Given the description of an element on the screen output the (x, y) to click on. 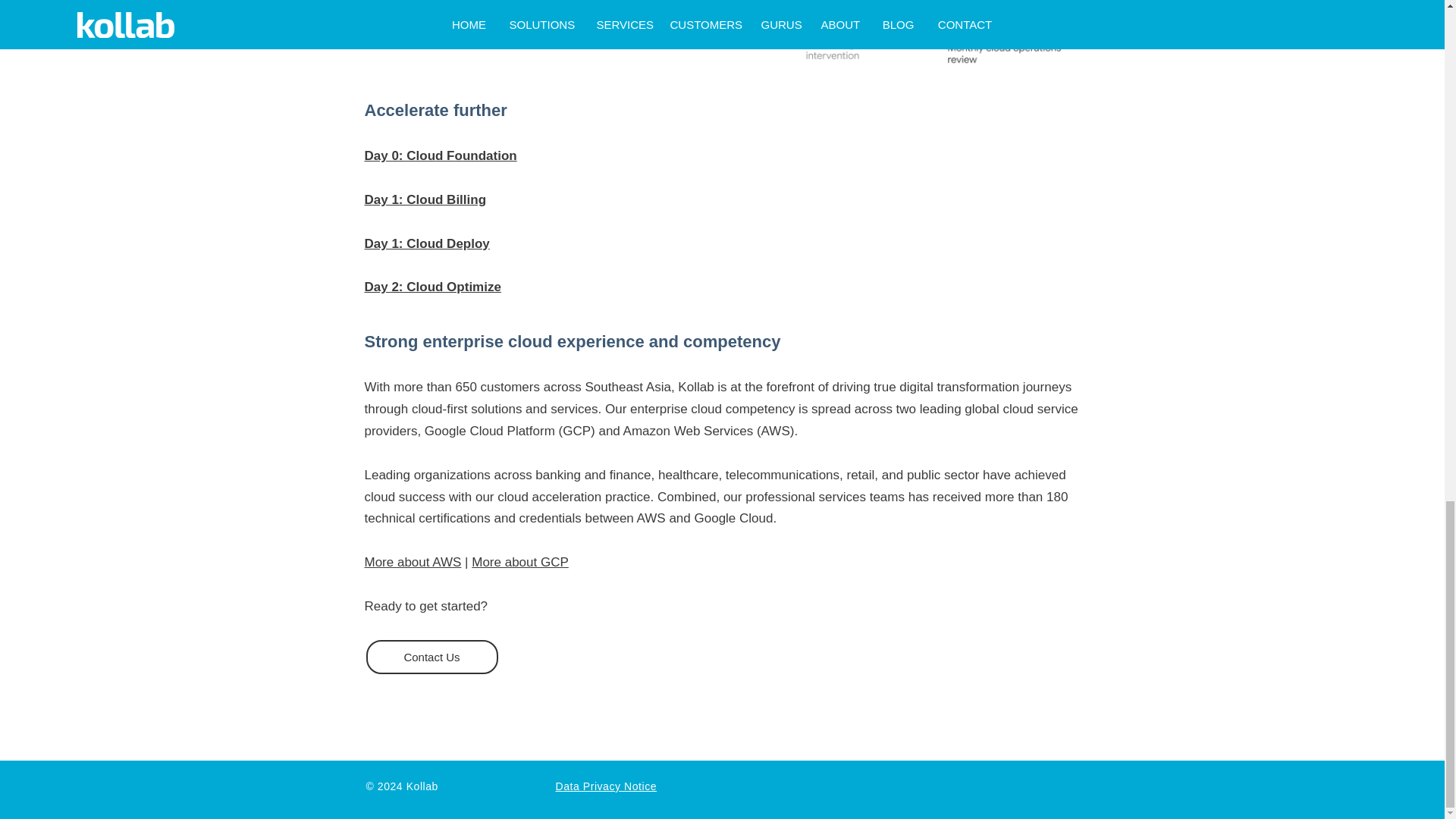
Contact Us (431, 656)
More about GCP (520, 562)
Day 0: Cloud Foundation (440, 155)
Day 1: Cloud Billing (425, 199)
Data Privacy Notice (605, 786)
More about AWS (412, 562)
Day 2: Cloud Optimize (432, 287)
Day 1: Cloud Deploy (426, 243)
